Given the description of an element on the screen output the (x, y) to click on. 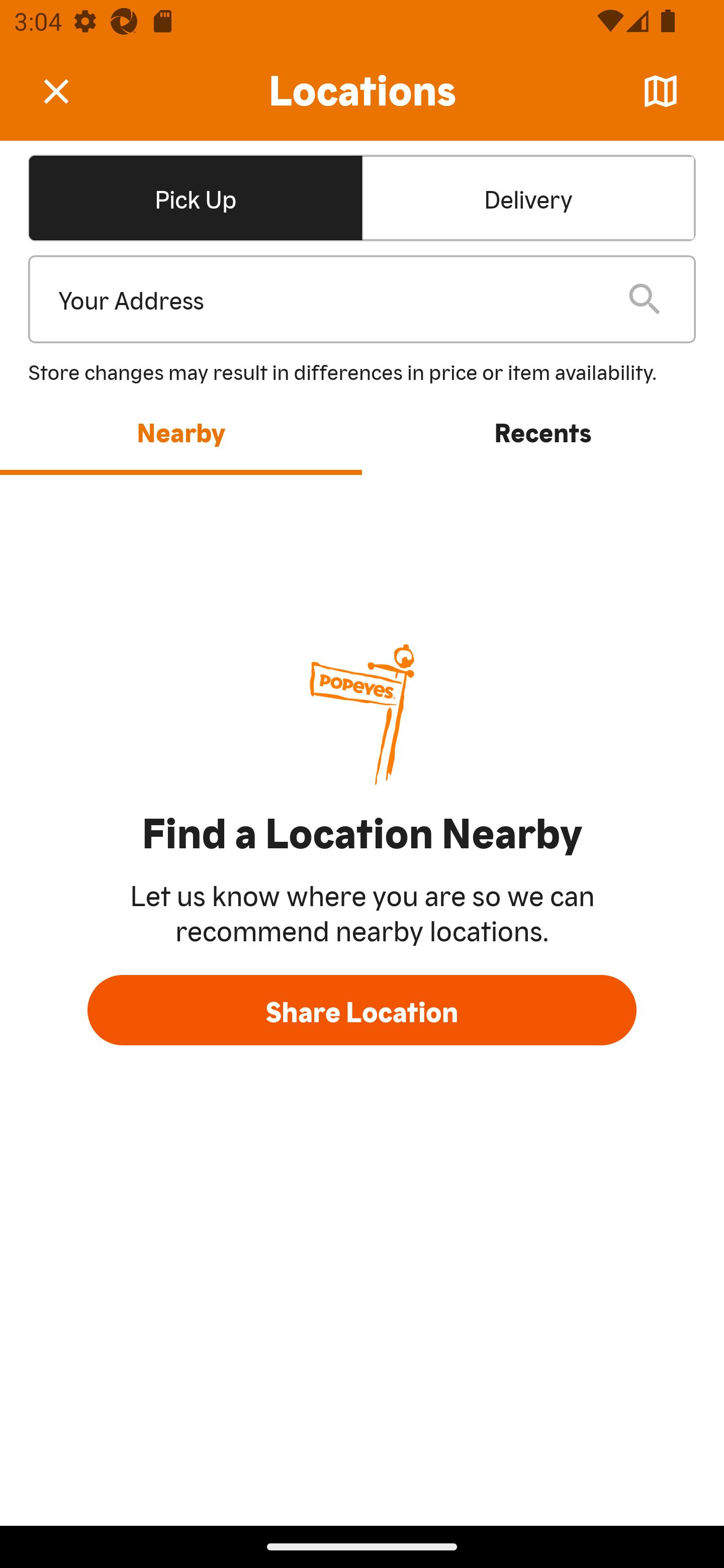
 (70, 90)
Map 󰦂 (660, 91)
Locations (362, 91)
Pick UpSelected Pick UpSelected Pick Up (195, 197)
Delivery Delivery Delivery (528, 197)
Your Address (327, 299)
Nearby (181, 430)
Recents (543, 430)
Share Location (361, 1010)
